Given the description of an element on the screen output the (x, y) to click on. 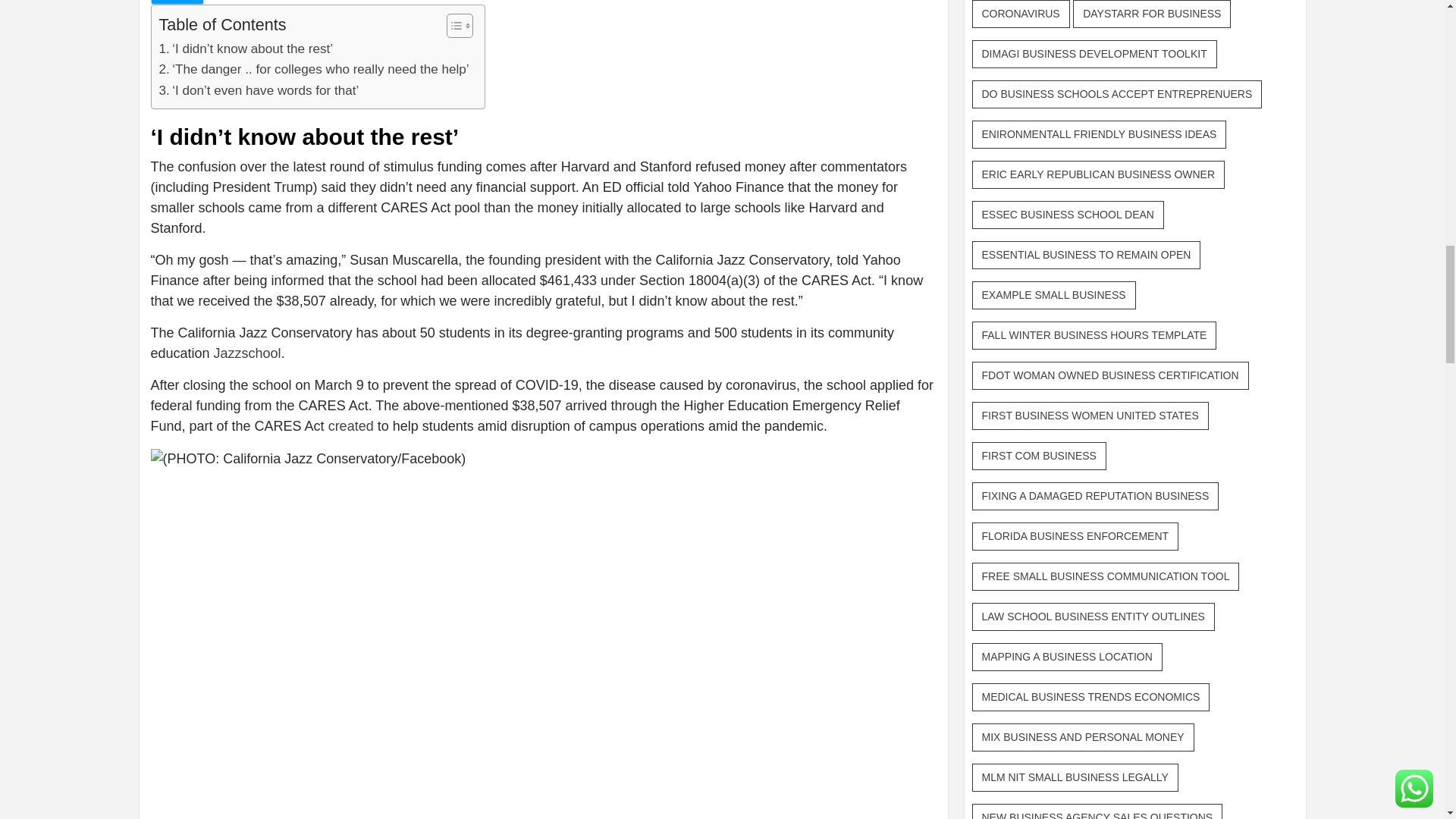
created (351, 426)
Jazzschool (247, 353)
More (176, 2)
